Given the description of an element on the screen output the (x, y) to click on. 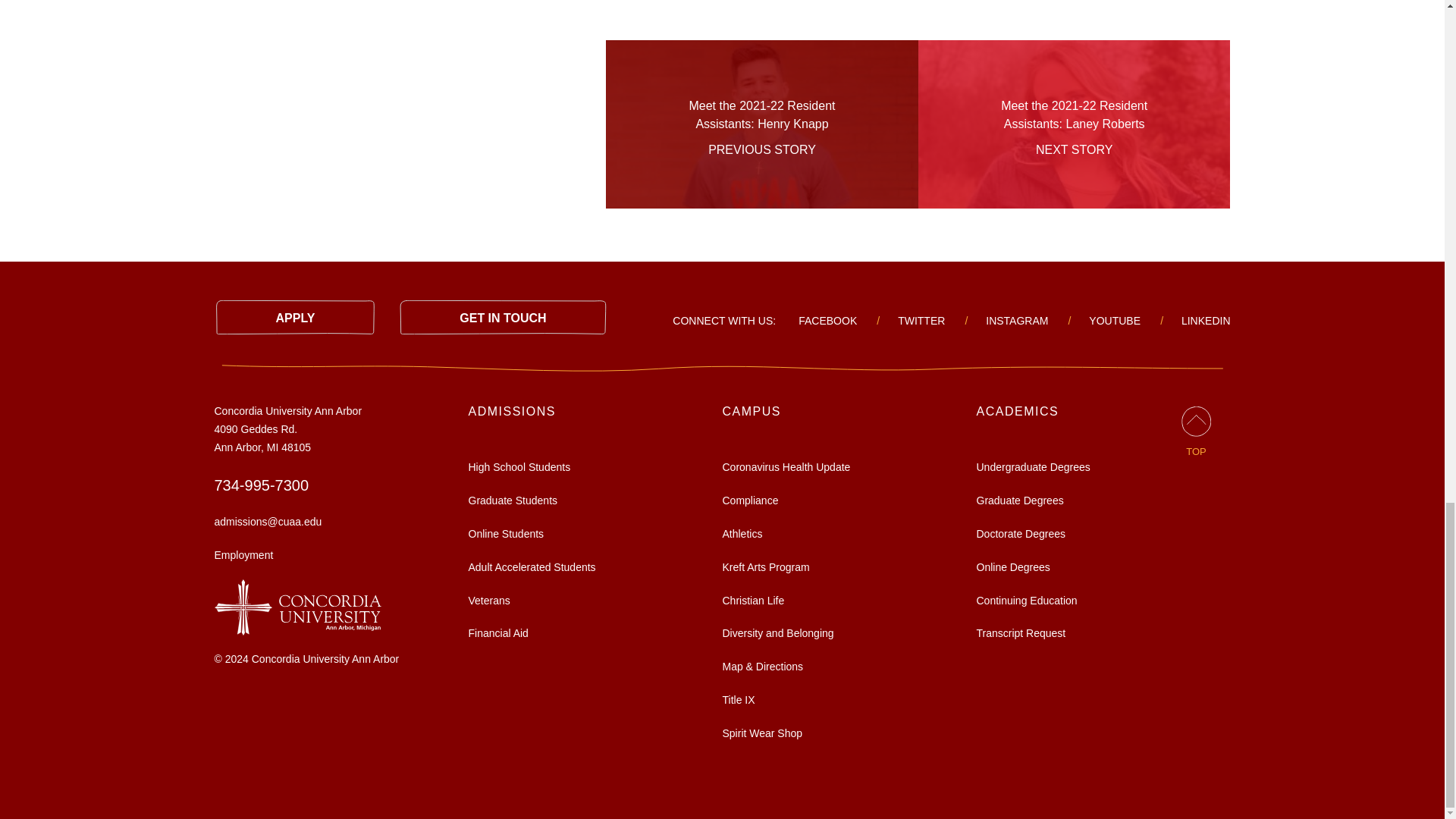
TOP (1195, 432)
APPLY (294, 316)
CUAA Home Page (297, 606)
